Given the description of an element on the screen output the (x, y) to click on. 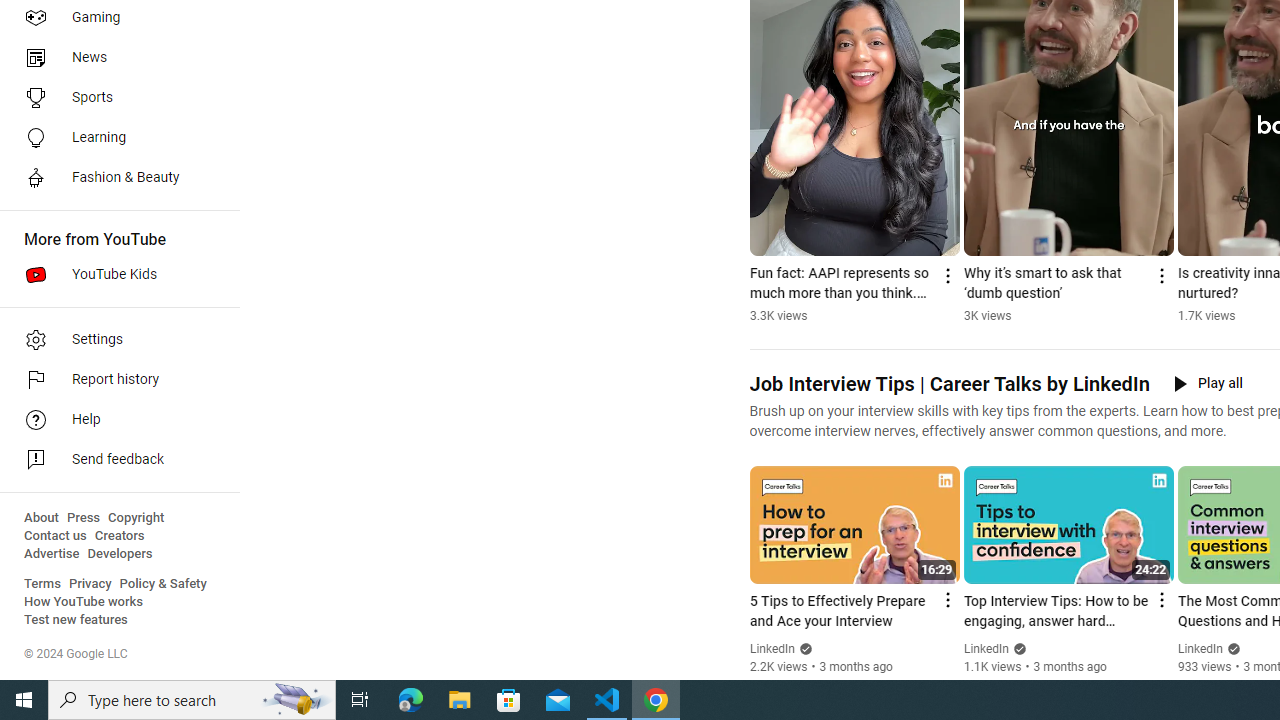
Send feedback (113, 459)
Job Interview Tips | Career Talks by LinkedIn (948, 384)
Creators (118, 536)
Copyright (136, 518)
Sports (113, 97)
More actions (1160, 276)
Press (83, 518)
Report history (113, 380)
Contact us (55, 536)
Test new features (76, 620)
Developers (120, 554)
Policy & Safety (163, 584)
How YouTube works (83, 602)
